Given the description of an element on the screen output the (x, y) to click on. 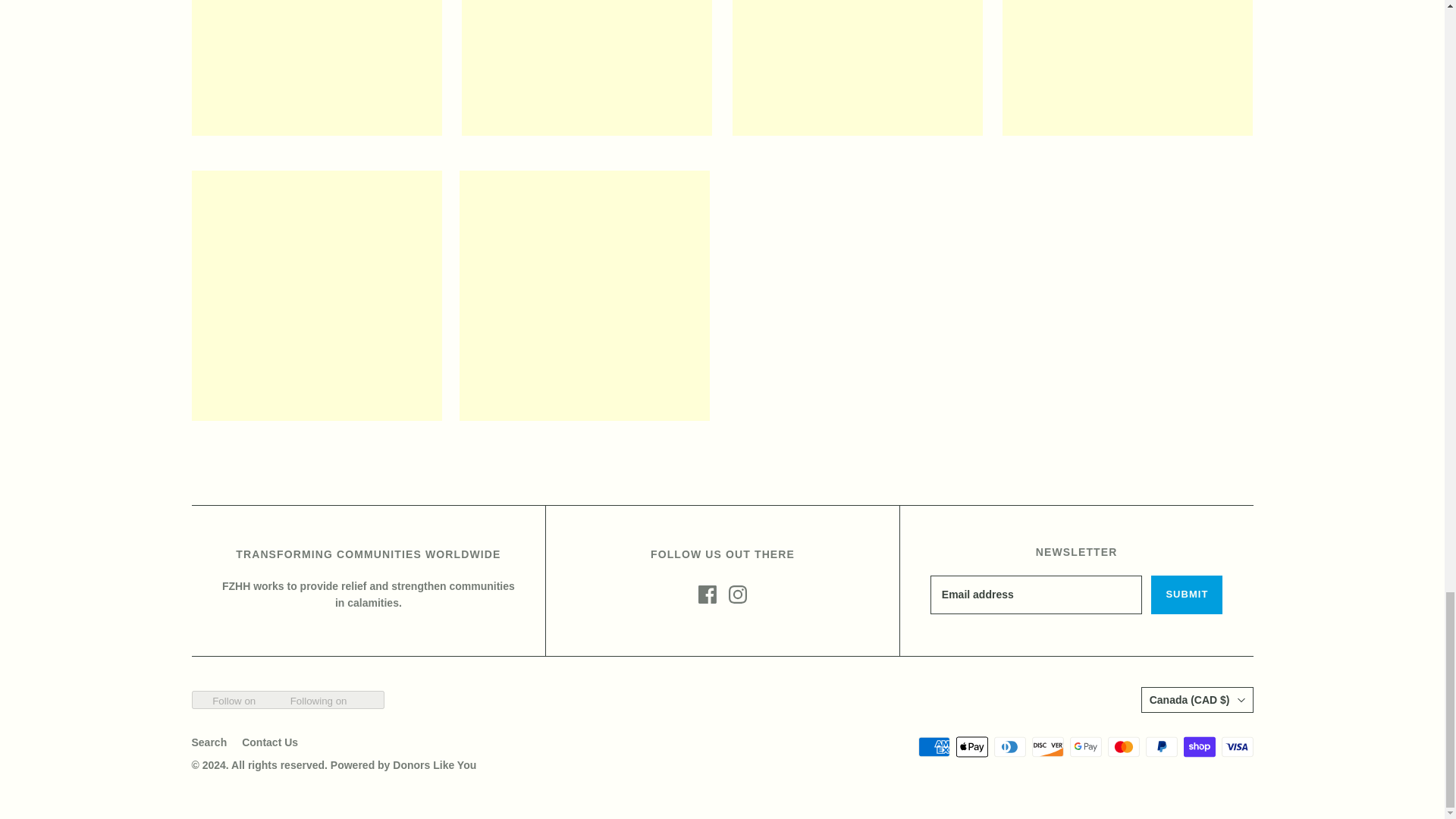
Apple Pay (971, 746)
Visa (1236, 746)
Discover (1046, 746)
Shop Pay (1198, 746)
PayPal (1160, 746)
Google Pay (1084, 746)
Diners Club (1008, 746)
American Express (933, 746)
Mastercard (1122, 746)
